Given the description of an element on the screen output the (x, y) to click on. 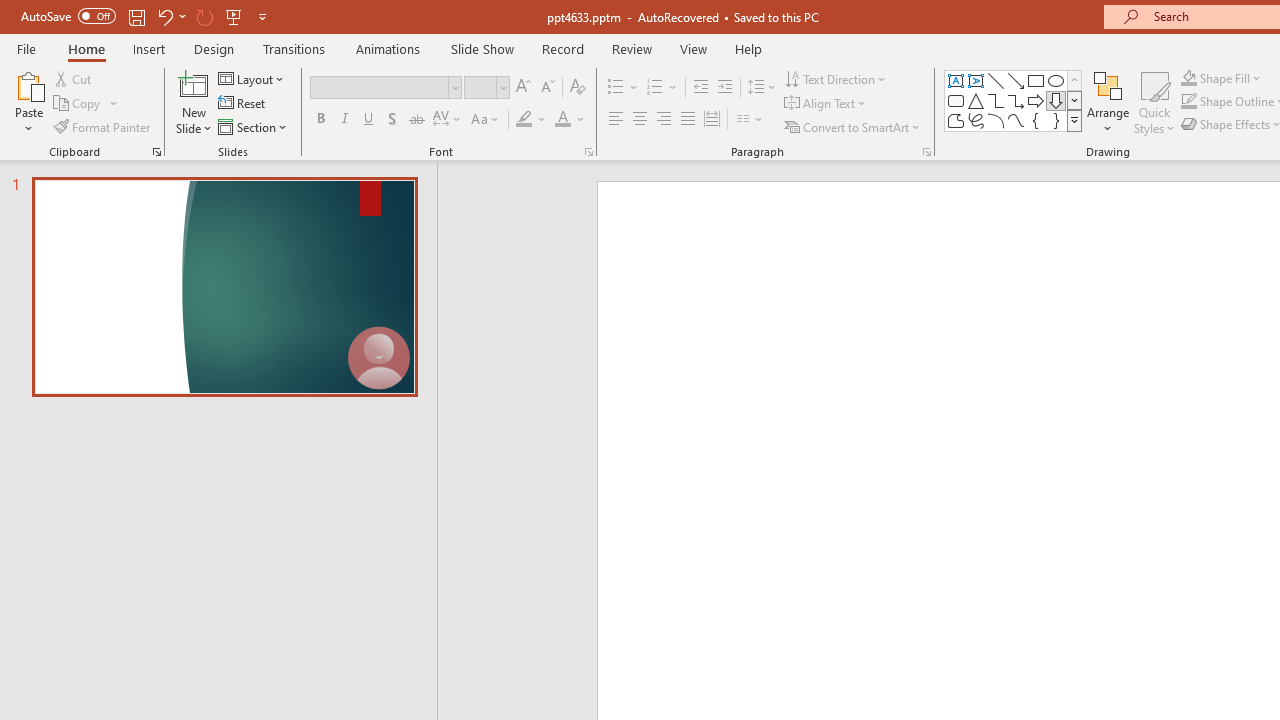
Shape Outline Dark Red, Accent 1 (1188, 101)
